Given the description of an element on the screen output the (x, y) to click on. 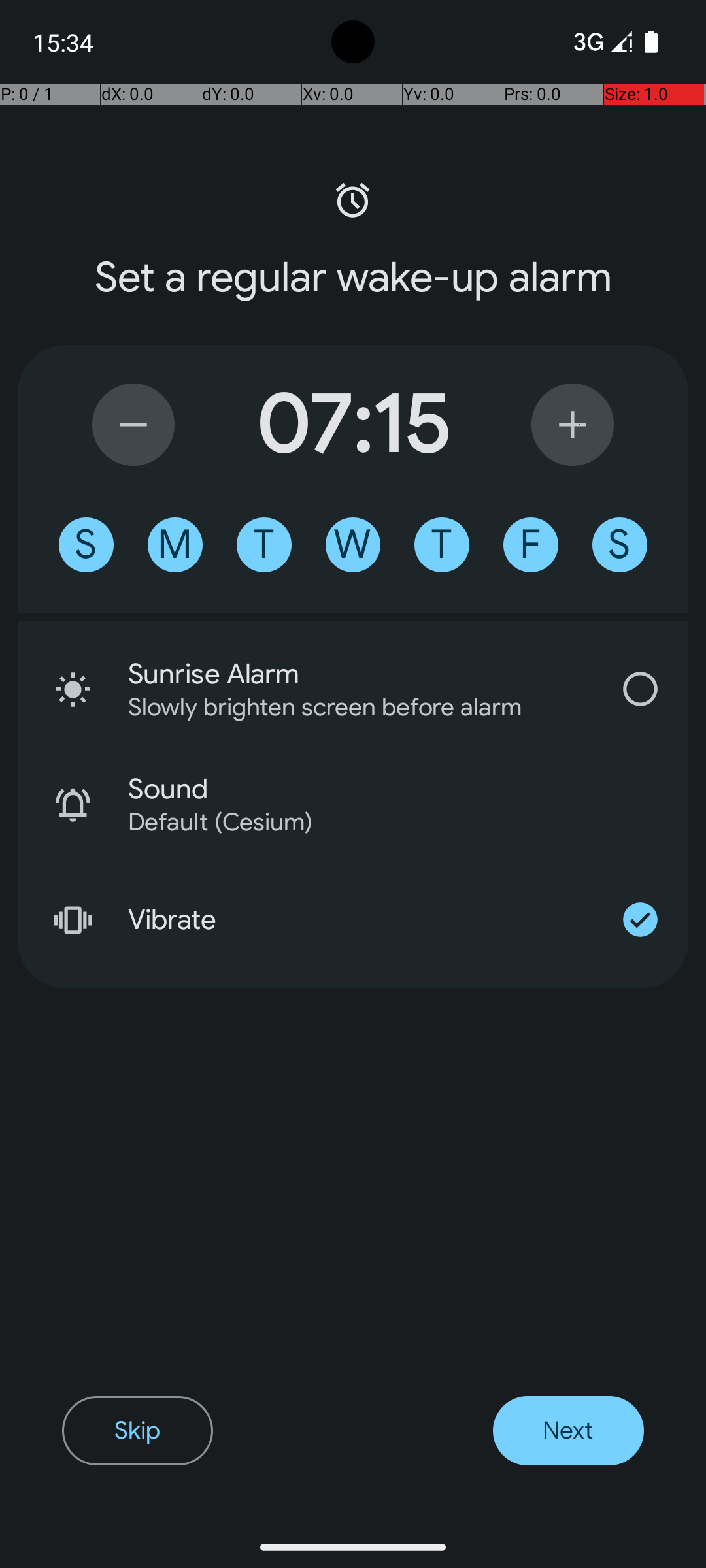
Set a regular wake-up alarm Element type: android.widget.TextView (352, 277)
Fifteen minutes earlier Element type: android.widget.ImageView (133, 424)
07:15 Element type: android.widget.TextView (353, 424)
Fifteen minutes later Element type: android.widget.ImageView (572, 424)
S Element type: android.widget.CheckBox (86, 544)
M Element type: android.widget.CheckBox (175, 544)
T Element type: android.widget.CheckBox (263, 544)
W Element type: android.widget.CheckBox (352, 544)
F Element type: android.widget.CheckBox (530, 544)
Skip Element type: android.widget.Button (137, 1430)
Next Element type: android.widget.Button (567, 1430)
Sunrise Alarm Element type: android.widget.TextView (360, 673)
Slowly brighten screen before alarm Element type: android.widget.TextView (342, 706)
Sound Element type: android.widget.TextView (408, 788)
Default (Cesium) Element type: android.widget.TextView (390, 821)
Vibrate Element type: android.widget.TextView (360, 919)
